Given the description of an element on the screen output the (x, y) to click on. 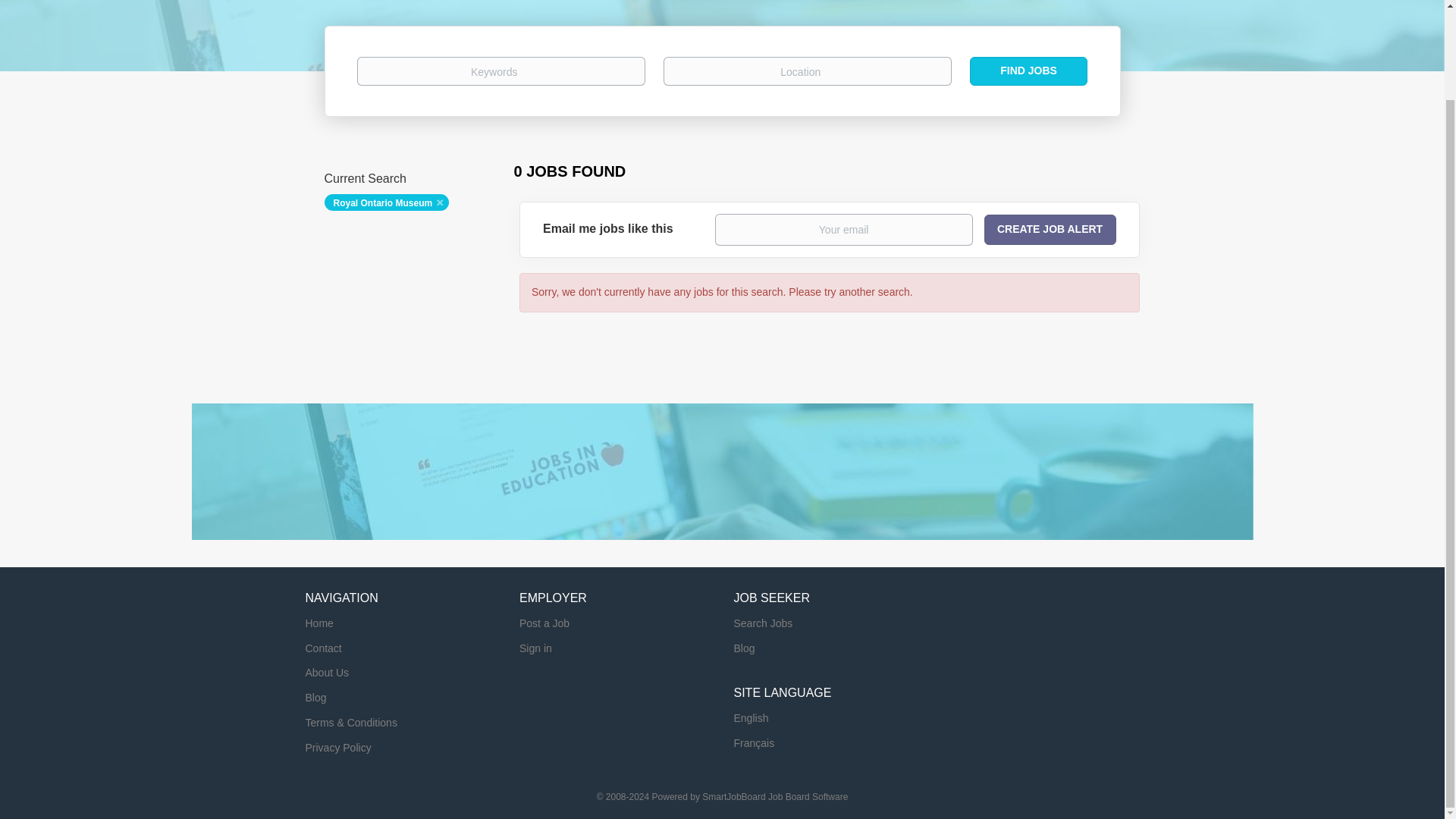
Job Board Software, Script (774, 796)
Create job alert (1050, 229)
